Given the description of an element on the screen output the (x, y) to click on. 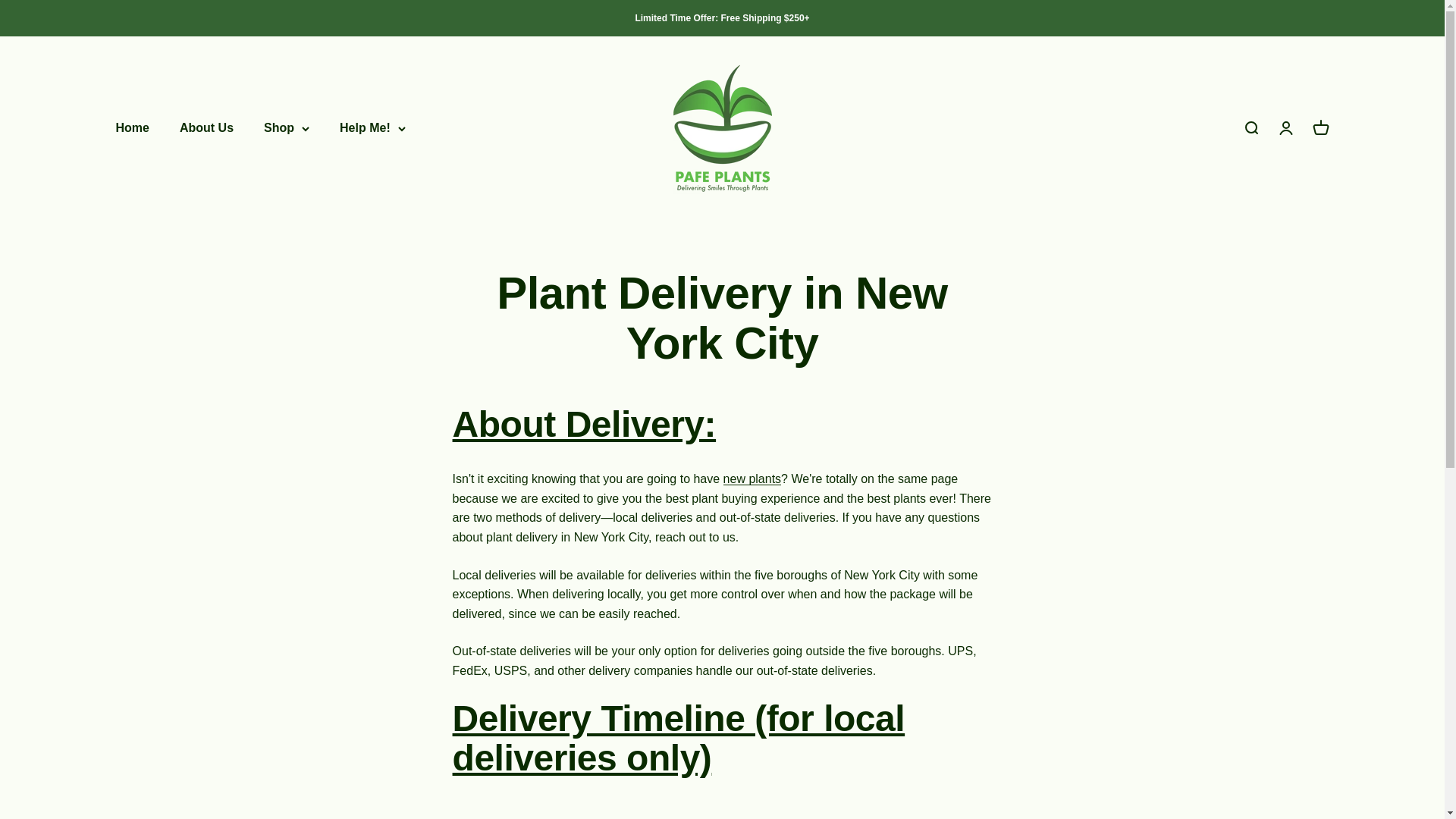
Open account page (1285, 127)
About Us (205, 128)
Home (131, 128)
Open cart (1319, 127)
Open search (1250, 127)
New plants (752, 478)
new plants (752, 478)
